Given the description of an element on the screen output the (x, y) to click on. 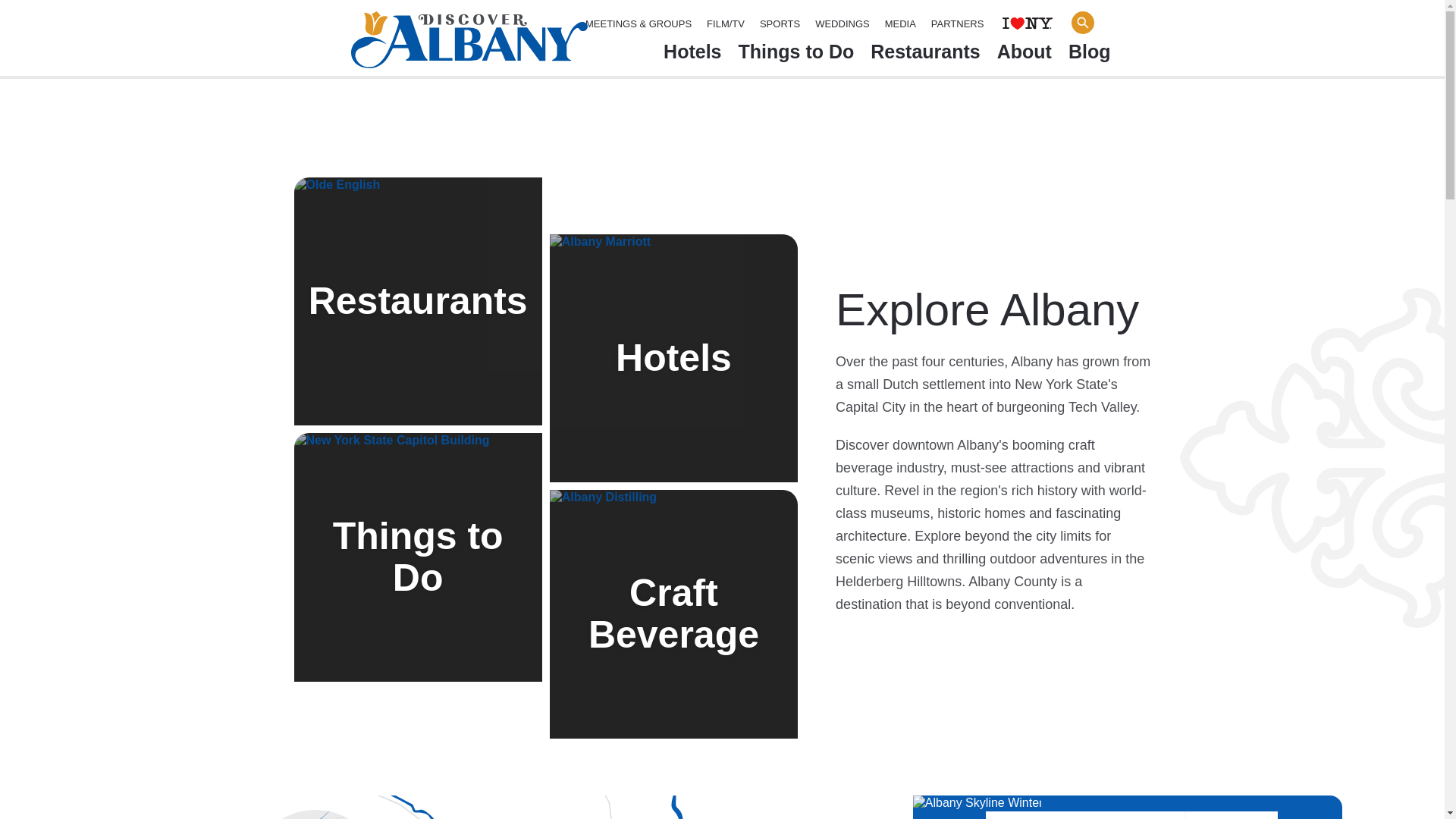
Hotels (691, 55)
Media (900, 24)
Partners (957, 24)
Weddings (842, 24)
Things to Do (796, 55)
Hotels (691, 55)
Sports (779, 24)
MEDIA (900, 24)
PARTNERS (957, 24)
Things to Do (796, 55)
SPORTS (779, 24)
WEDDINGS (842, 24)
